Given the description of an element on the screen output the (x, y) to click on. 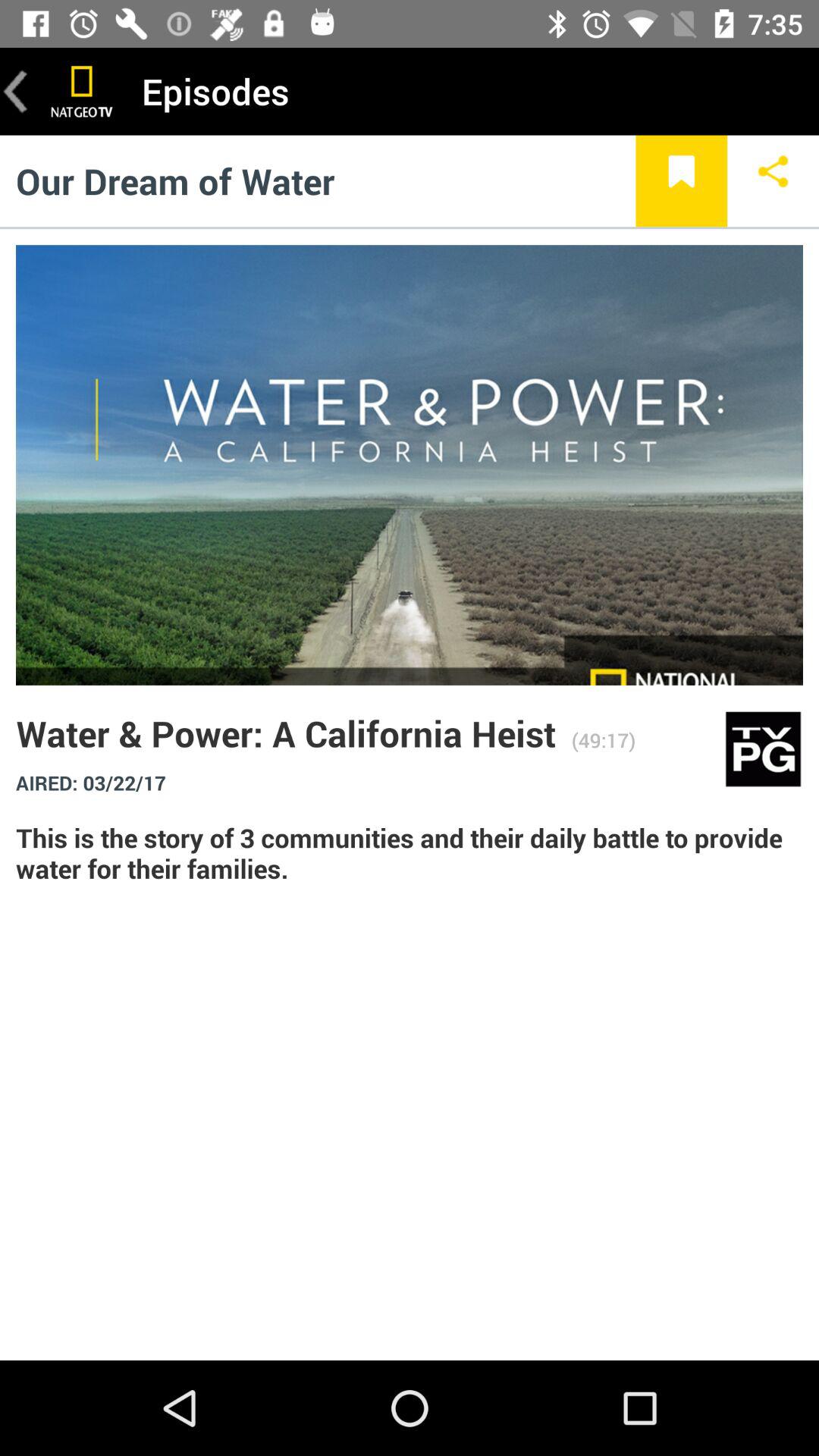
click save option (681, 180)
